Given the description of an element on the screen output the (x, y) to click on. 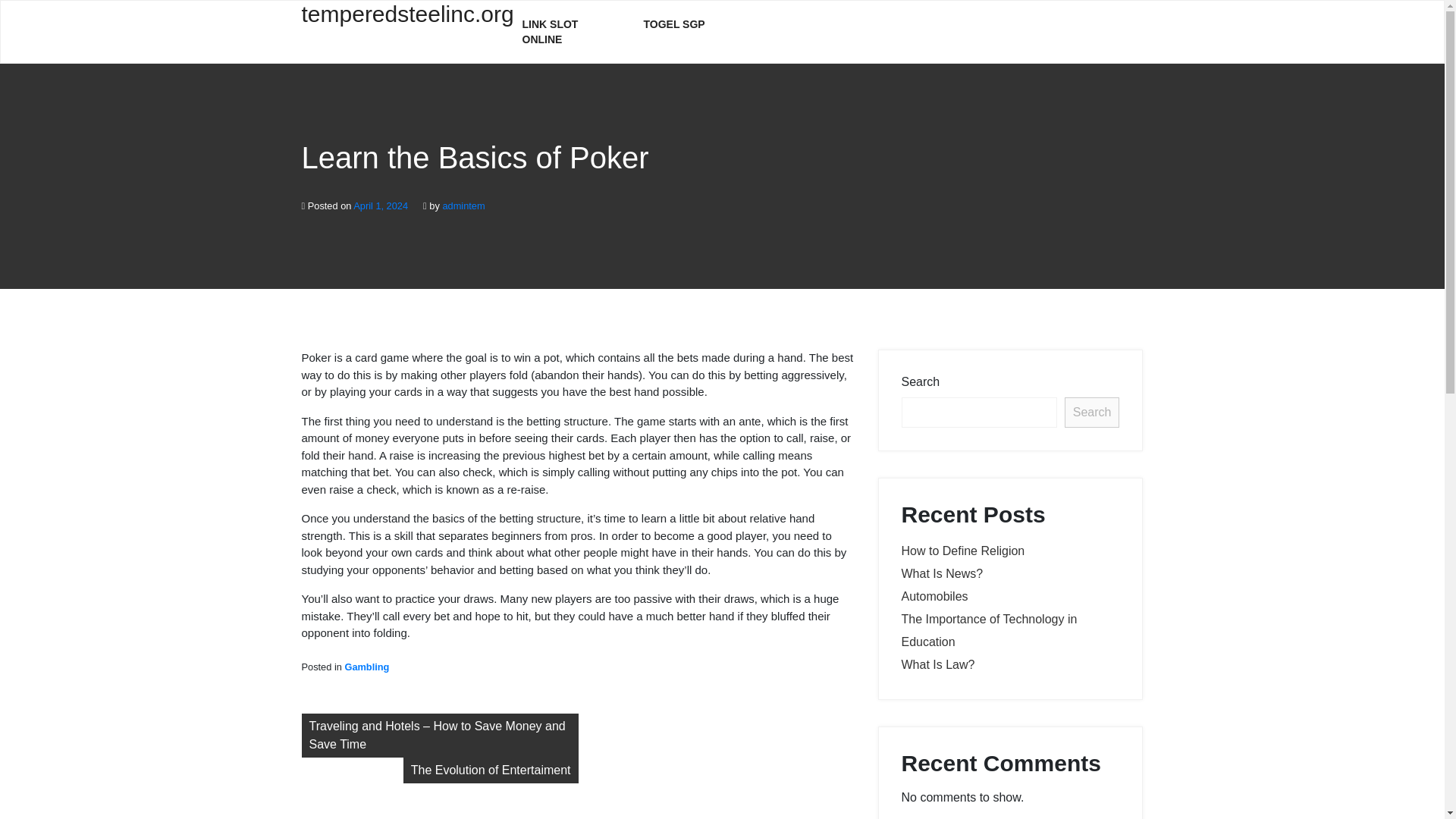
Link Slot Online (569, 31)
Gambling (365, 666)
LINK SLOT ONLINE (569, 31)
April 1, 2024 (380, 205)
Automobiles (934, 595)
Togel SGP (673, 23)
TOGEL SGP (673, 23)
The Importance of Technology in Education (989, 630)
How to Define Religion (963, 550)
What Is Law? (937, 664)
admintem (463, 205)
temperedsteelinc.org (400, 22)
The Evolution of Entertaiment (490, 769)
What Is News? (941, 573)
Search (1091, 412)
